Given the description of an element on the screen output the (x, y) to click on. 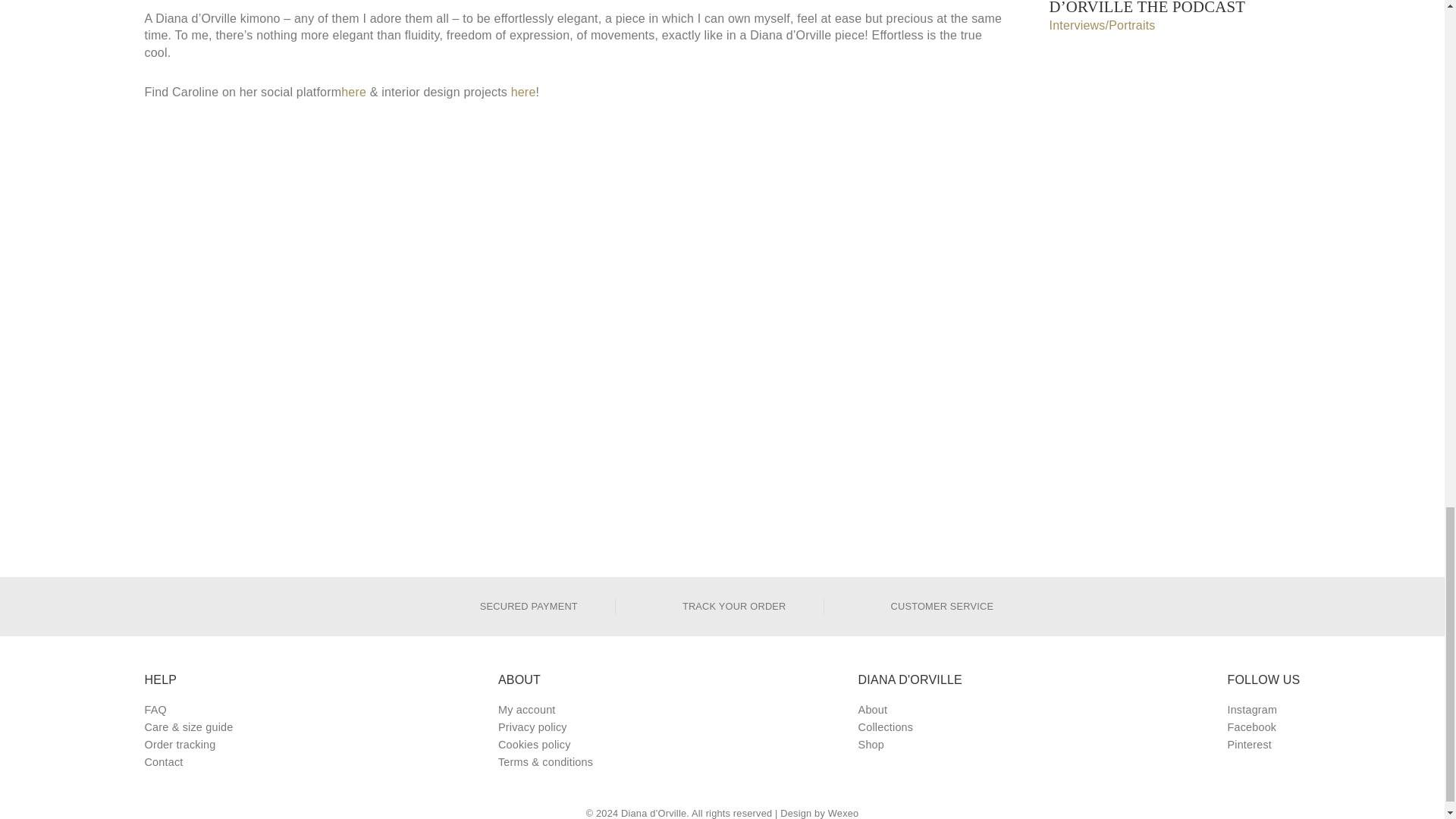
My account (544, 710)
Order tracking (188, 744)
About (910, 710)
FAQ (188, 710)
Instagram (1263, 710)
Collections (910, 727)
Cookies policy (544, 744)
Facebook (1263, 727)
Contact (188, 762)
here (353, 92)
Privacy policy (544, 727)
Instagram (1263, 710)
Facebook (1263, 727)
Pinterest (1263, 744)
here (523, 92)
